Given the description of an element on the screen output the (x, y) to click on. 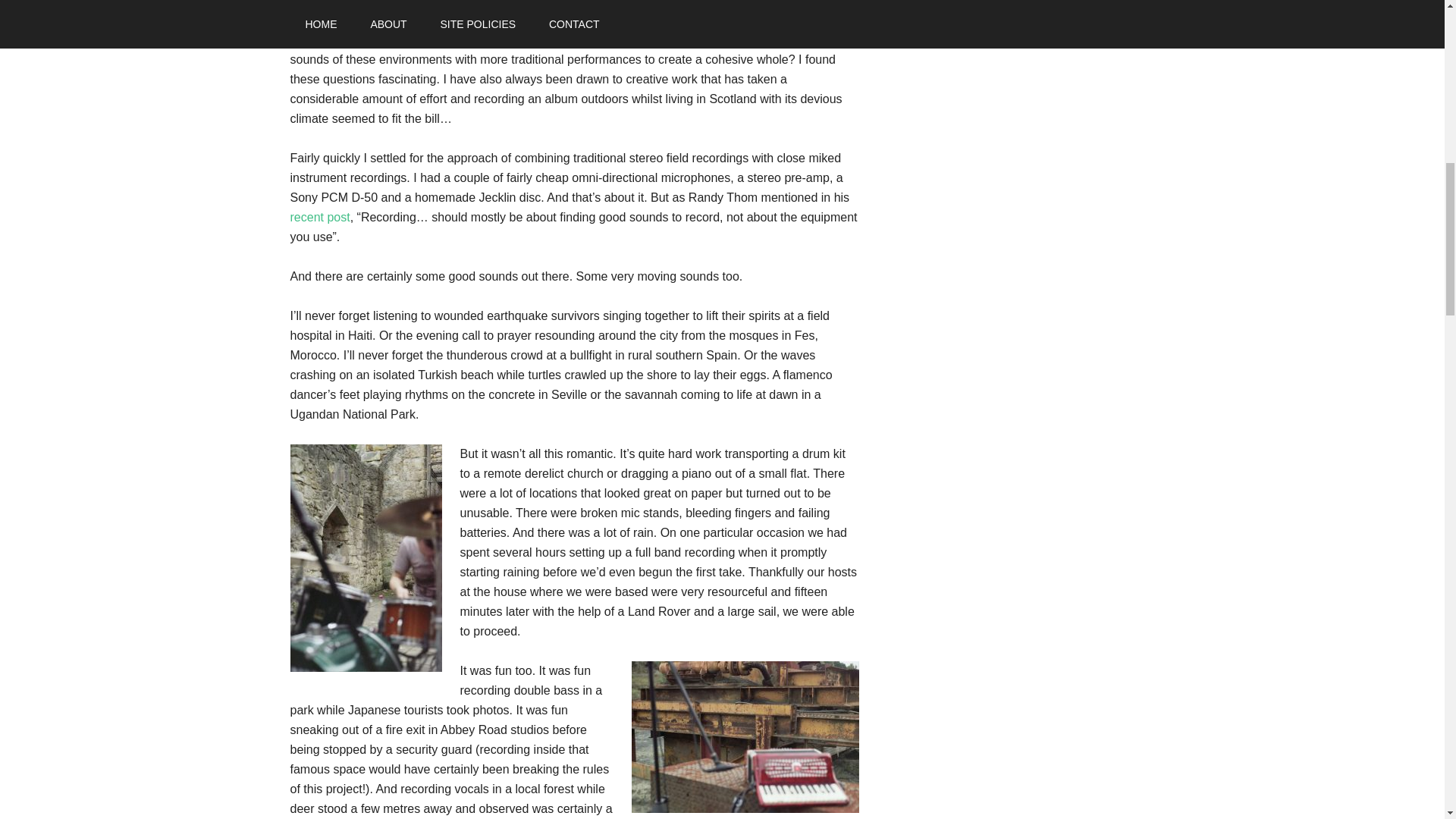
recent post (319, 216)
